Given the description of an element on the screen output the (x, y) to click on. 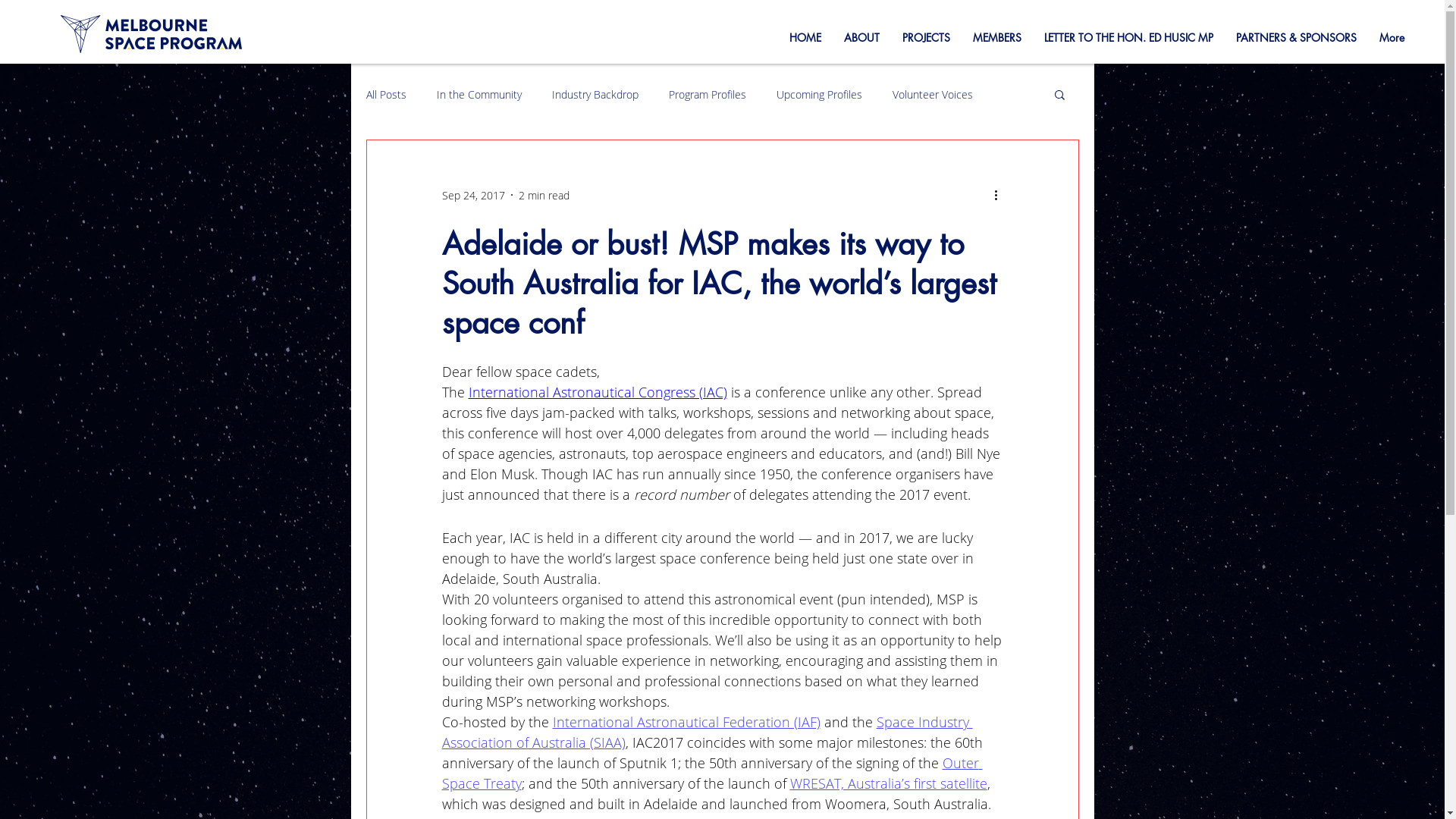
HOME Element type: text (805, 37)
International Astronautical Congress (IAC) Element type: text (597, 391)
All Posts Element type: text (385, 93)
Upcoming Profiles Element type: text (819, 93)
Volunteer Voices Element type: text (931, 93)
International Astronautical Federation (IAF) Element type: text (685, 721)
LETTER TO THE HON. ED HUSIC MP Element type: text (1128, 37)
In the Community Element type: text (478, 93)
Program Profiles Element type: text (707, 93)
PARTNERS & SPONSORS Element type: text (1296, 37)
PROJECTS Element type: text (926, 37)
Space Industry Association of Australia (SIAA) Element type: text (706, 731)
Outer Space Treaty Element type: text (711, 772)
Industry Backdrop Element type: text (595, 93)
ABOUT Element type: text (861, 37)
MEMBERS Element type: text (996, 37)
